Given the description of an element on the screen output the (x, y) to click on. 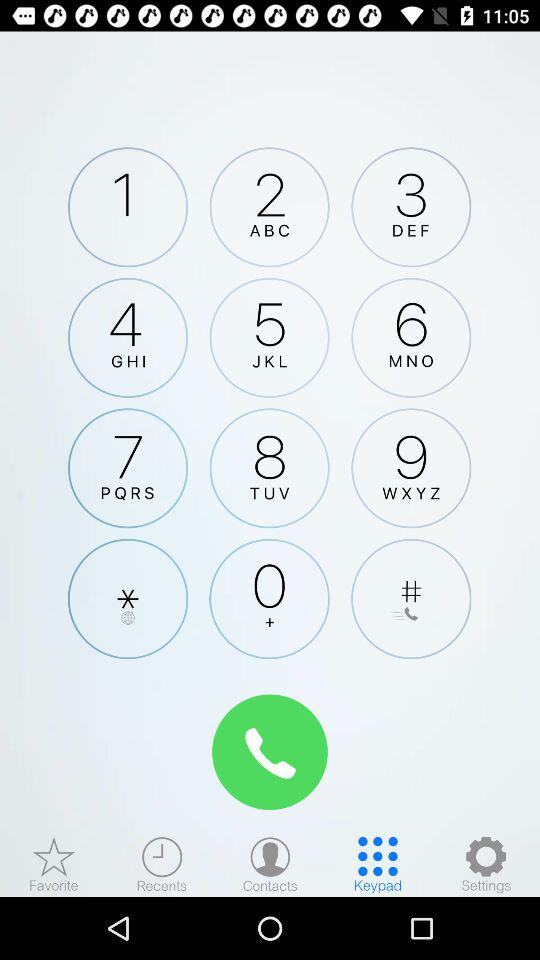
favorite (53, 864)
